Given the description of an element on the screen output the (x, y) to click on. 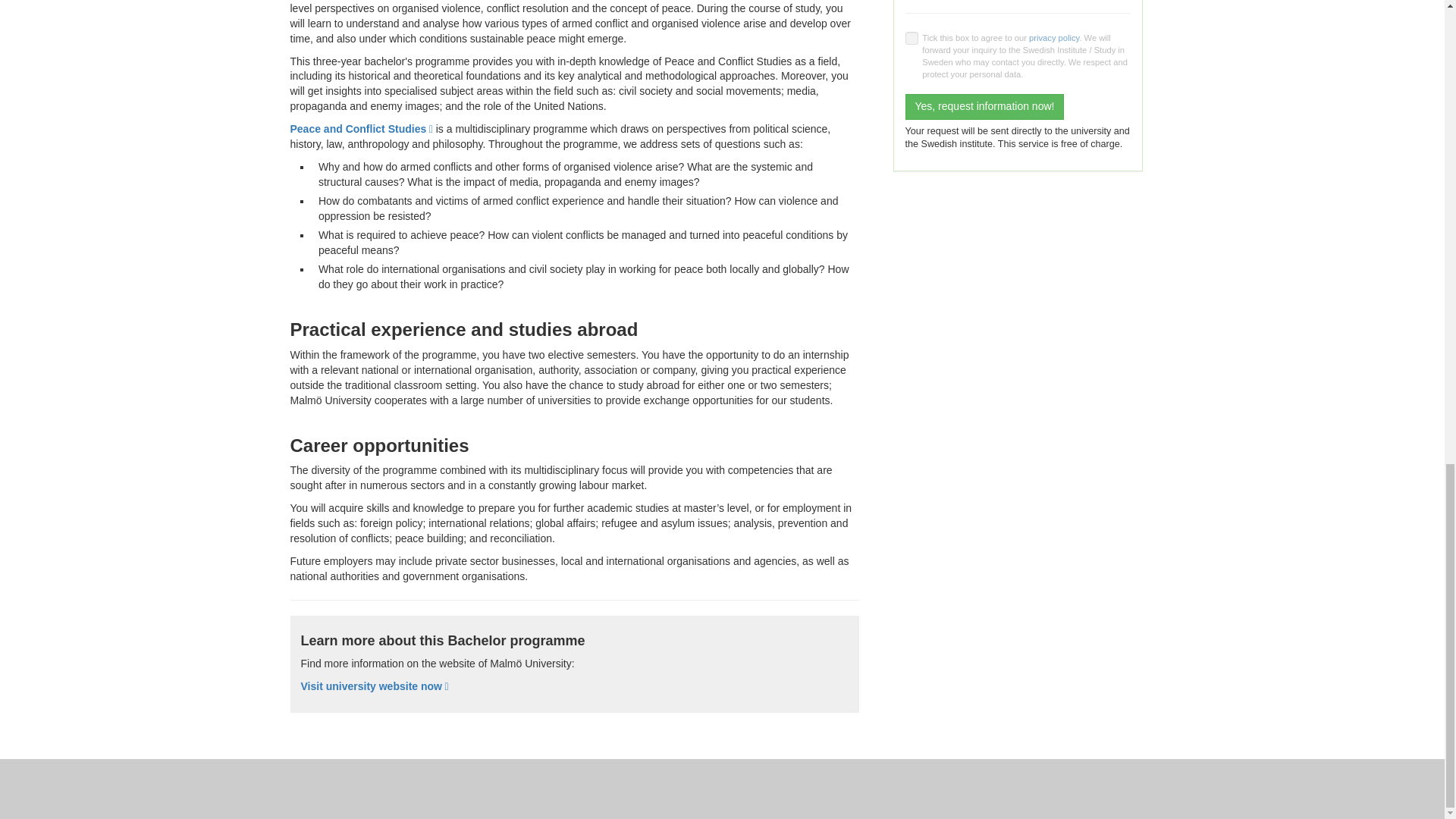
Peace and Conflict Studies (360, 128)
Visit university website (373, 686)
privacy policy (1053, 37)
Visit university website now (373, 686)
Yes, request information now! (984, 106)
